Given the description of an element on the screen output the (x, y) to click on. 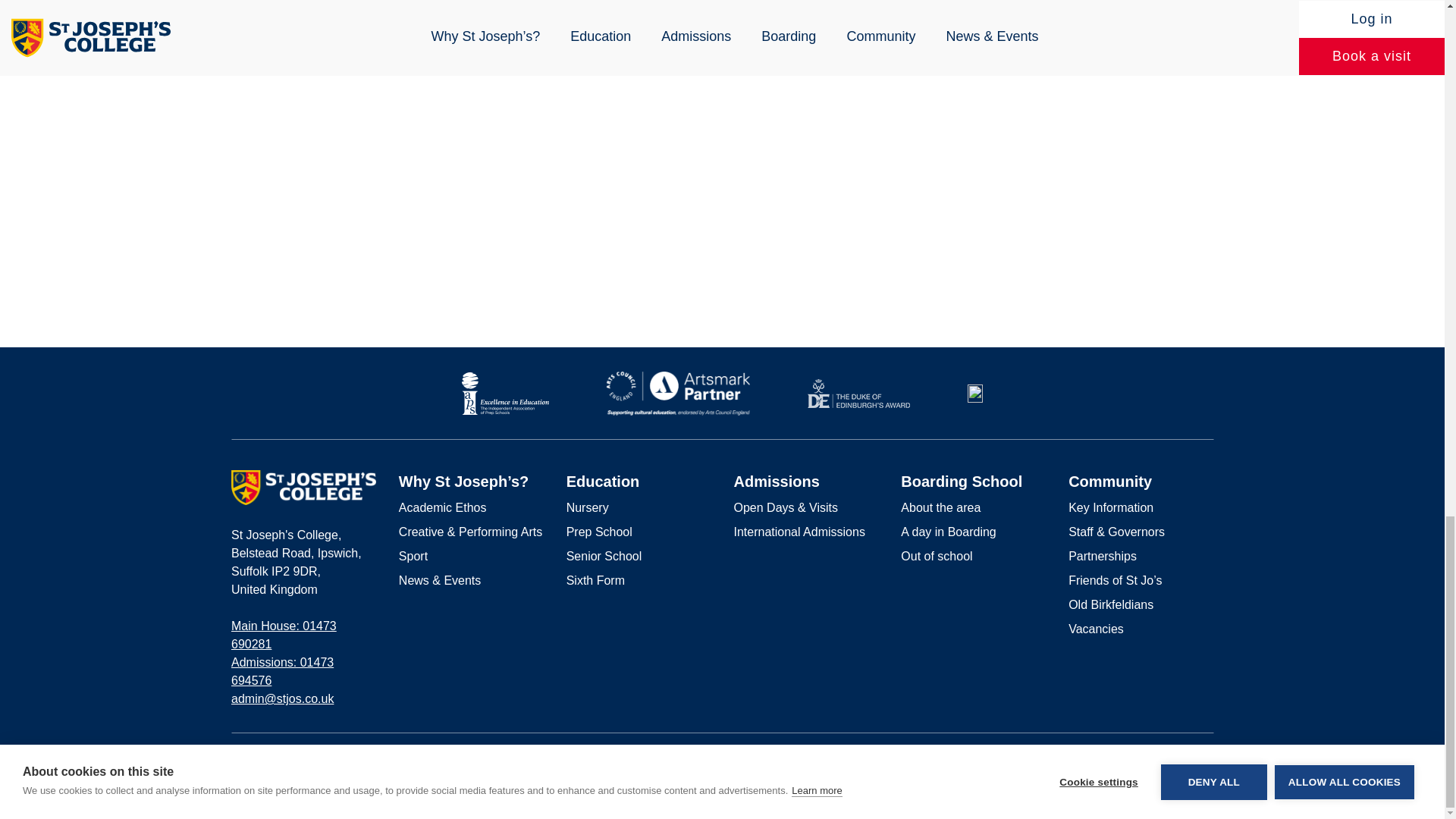
Twitter (1206, 759)
Facebook (1158, 758)
Instagram (1182, 758)
